Given the description of an element on the screen output the (x, y) to click on. 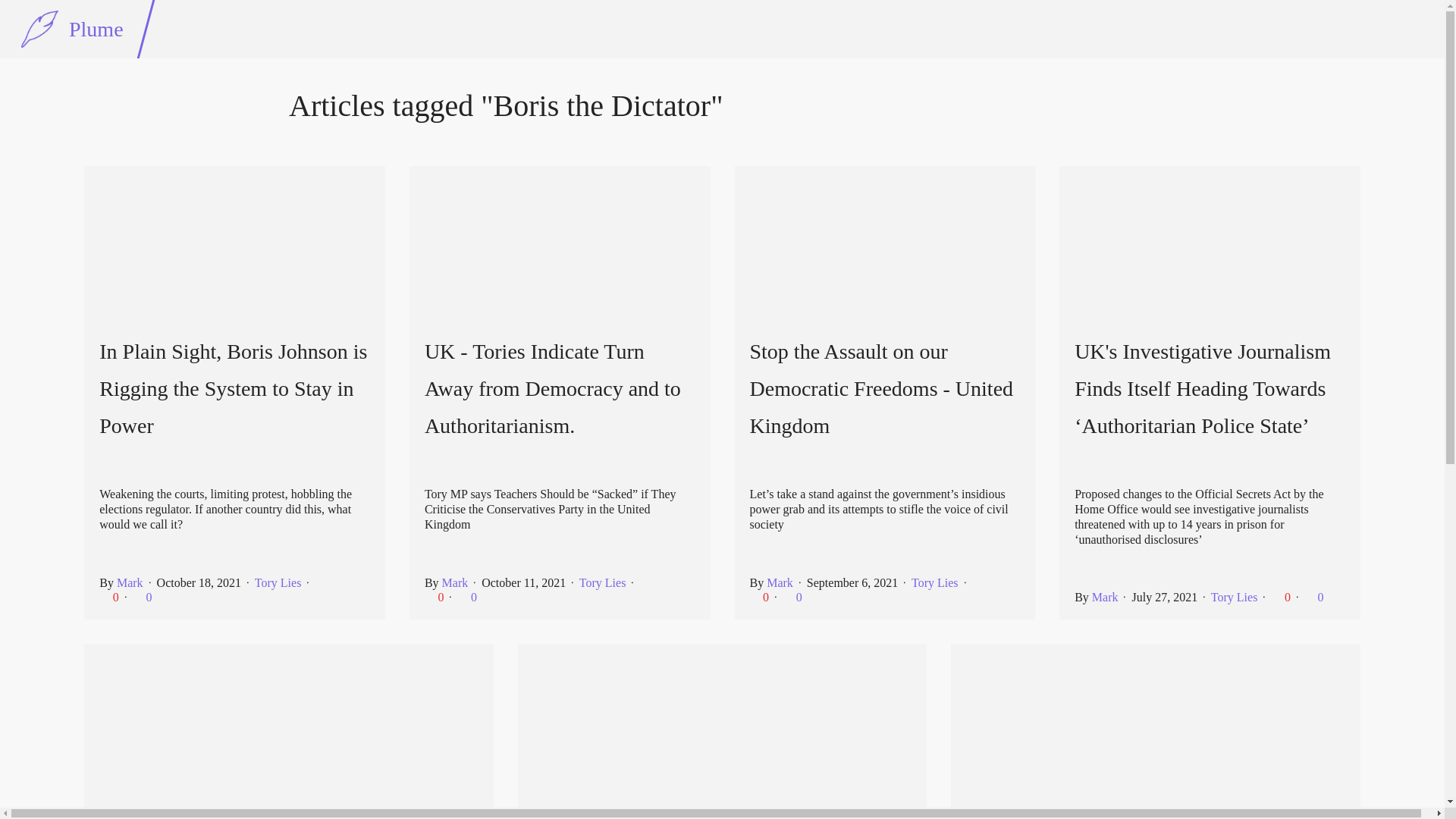
Plume (72, 29)
0 boosts (792, 596)
Tory Lies (277, 582)
0 likes (110, 596)
Mark (129, 582)
Mark (780, 582)
0 likes (760, 596)
Tory Lies (1234, 596)
Tory Lies (602, 582)
